Given the description of an element on the screen output the (x, y) to click on. 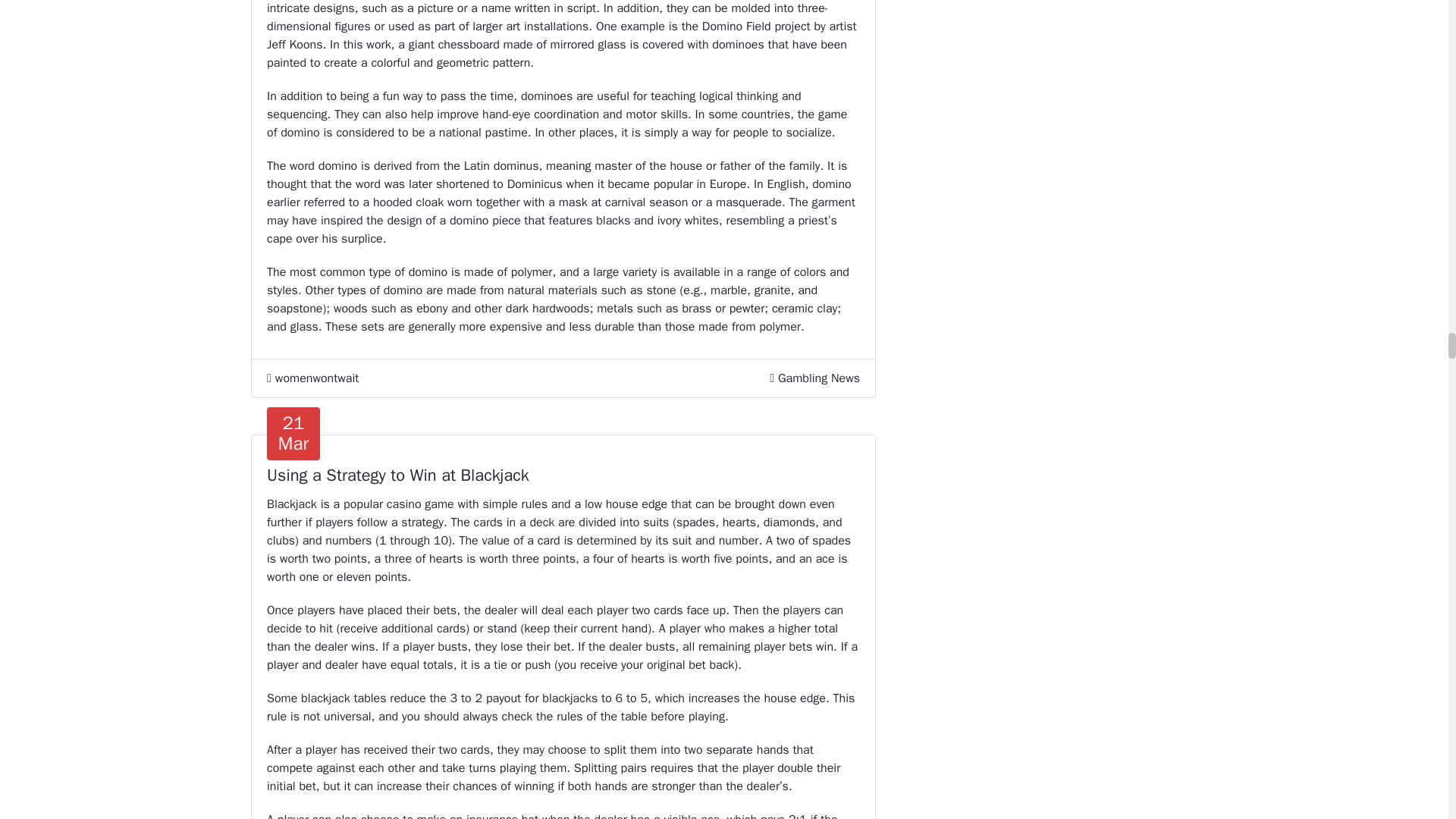
womenwontwait (312, 378)
